Given the description of an element on the screen output the (x, y) to click on. 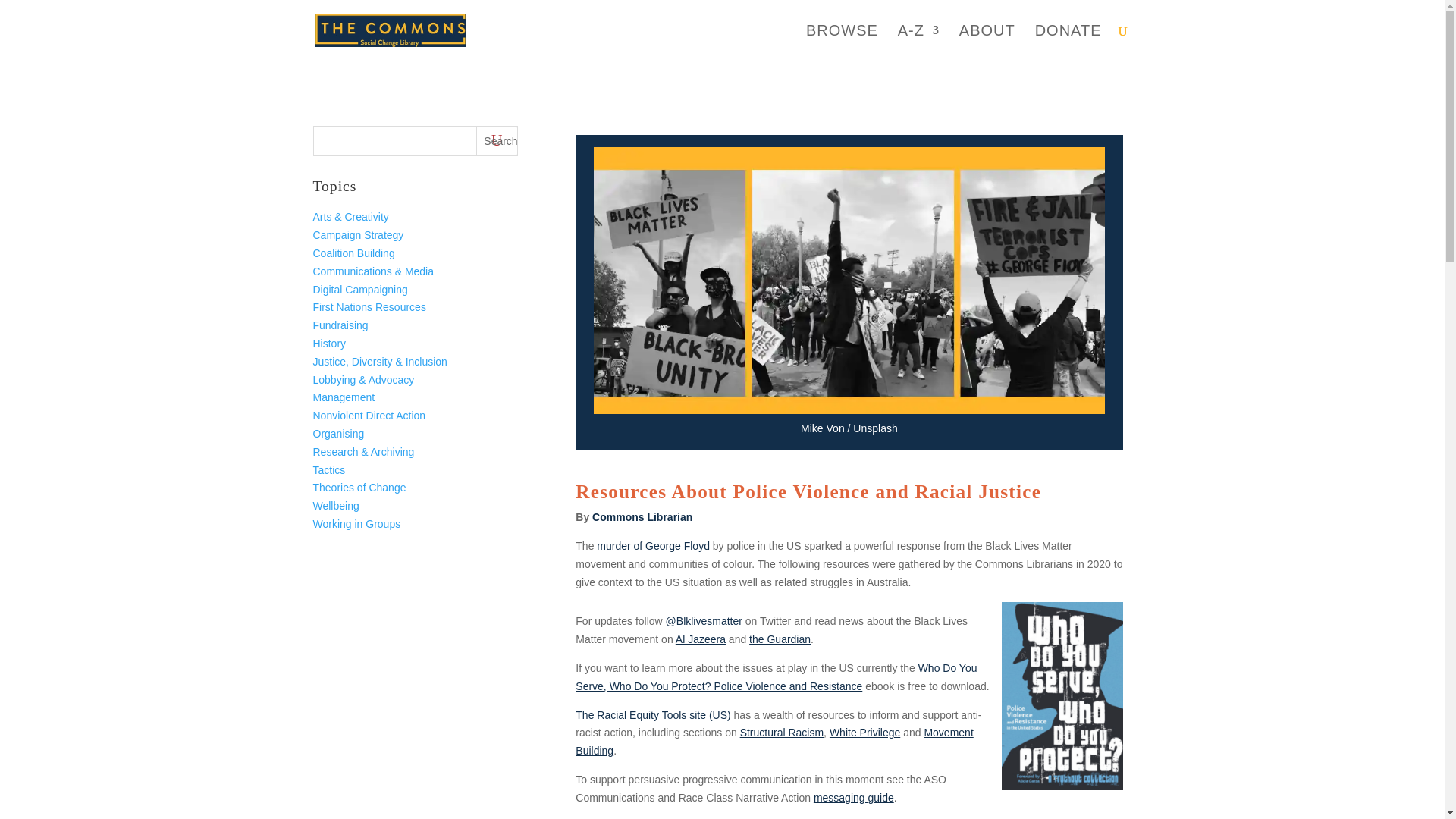
A-Z (918, 42)
Structural Racism (781, 732)
Commons Librarian (642, 517)
murder of George Floyd (653, 545)
messaging guide (853, 797)
DONATE (1068, 42)
Search (497, 141)
White Privilege (864, 732)
BROWSE (841, 42)
ABOUT (986, 42)
Al Jazeera (700, 639)
the Guardian (779, 639)
Movement Building (773, 741)
